Given the description of an element on the screen output the (x, y) to click on. 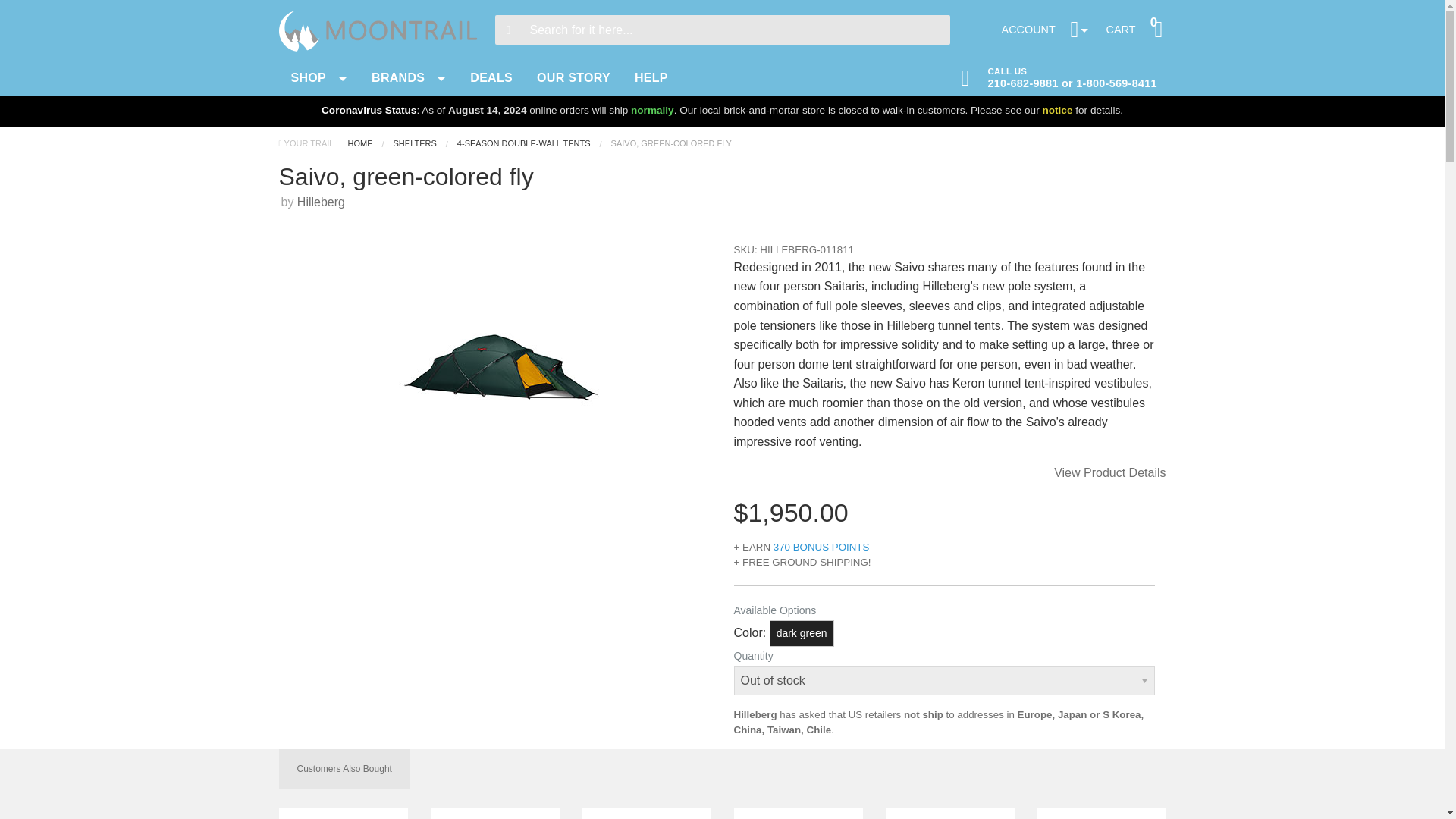
OUR STORY (573, 77)
OUR STORY (1135, 29)
BRANDS (573, 77)
ACCOUNT (408, 77)
SHOP (1061, 76)
Moontrail.com Logo (1044, 29)
DEALS (319, 77)
DEALS (381, 29)
